Given the description of an element on the screen output the (x, y) to click on. 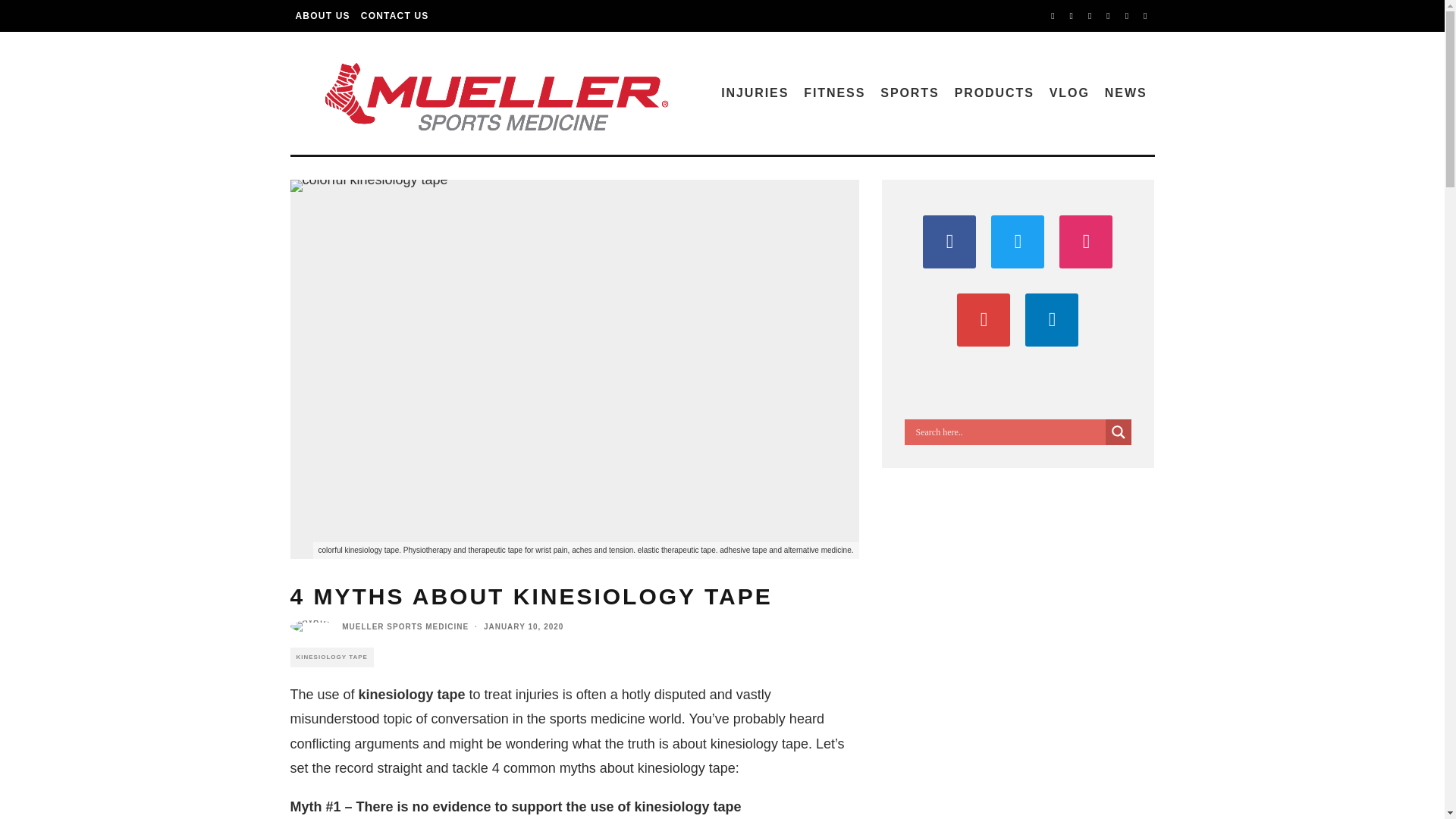
CONTACT US (394, 15)
INJURIES (754, 93)
SPORTS (909, 93)
ABOUT US (322, 15)
FITNESS (834, 93)
